Given the description of an element on the screen output the (x, y) to click on. 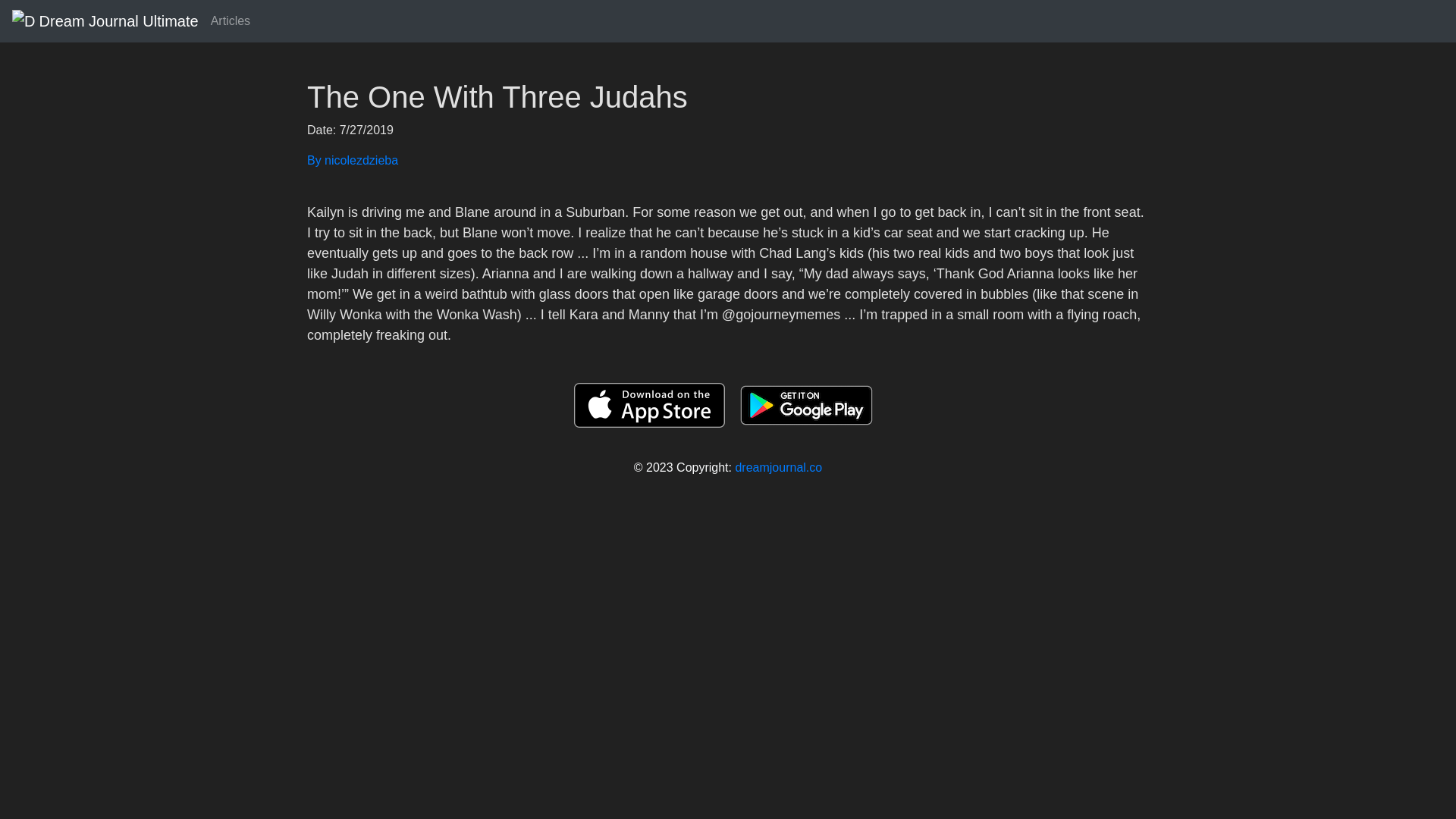
Dream Journal Ultimate (104, 20)
dreamjournal.co (778, 467)
By nicolezdzieba (727, 160)
Articles (230, 20)
